Given the description of an element on the screen output the (x, y) to click on. 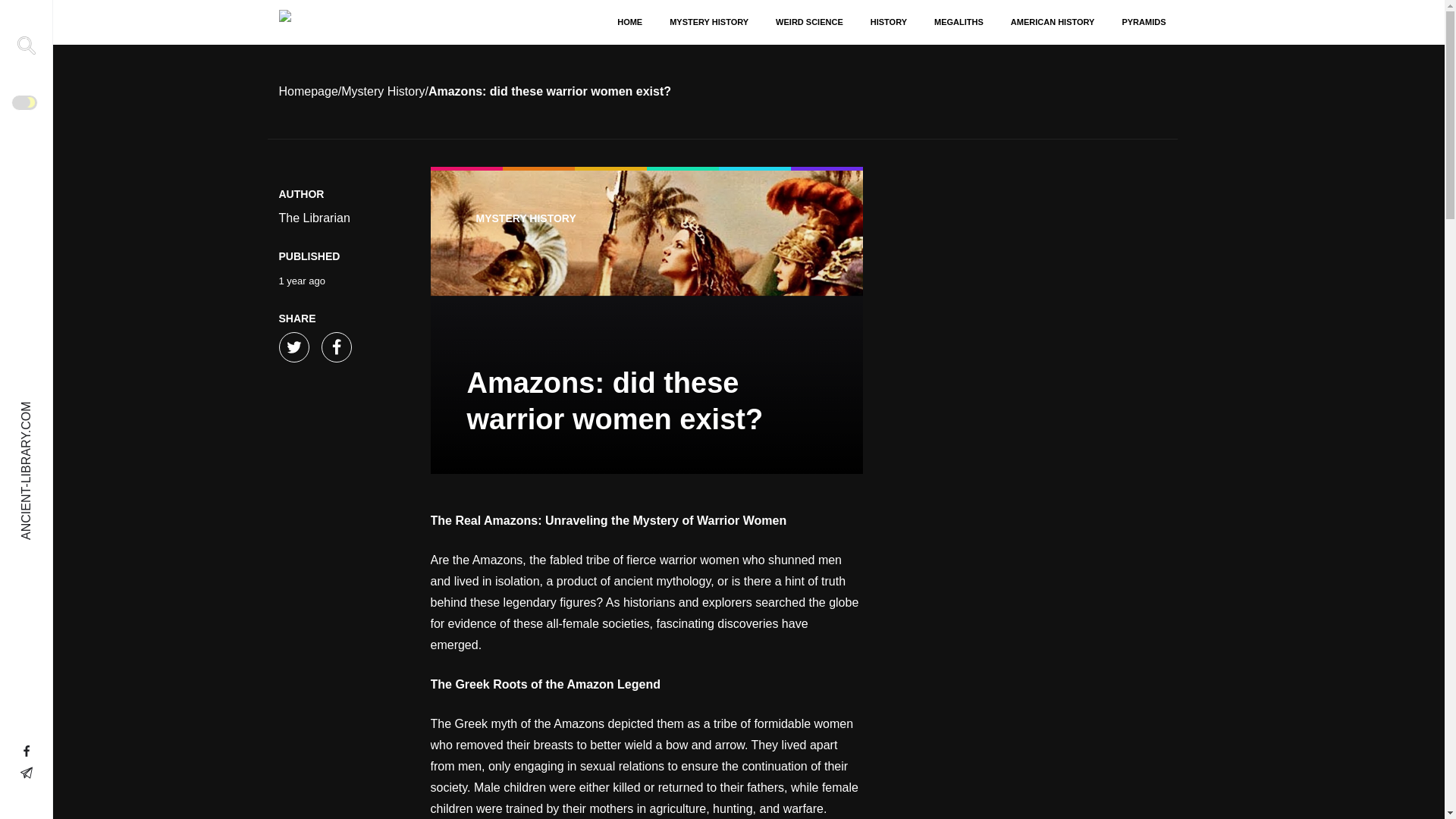
PYRAMIDS (1139, 22)
WEIRD SCIENCE (809, 22)
Homepage (308, 91)
HISTORY (888, 22)
Mystery History (382, 91)
MYSTERY HISTORY (526, 218)
Homepage (308, 91)
HOME (629, 22)
Amazons: did these warrior women exist? (549, 91)
Amazons: did these warrior women exist? (646, 322)
